Given the description of an element on the screen output the (x, y) to click on. 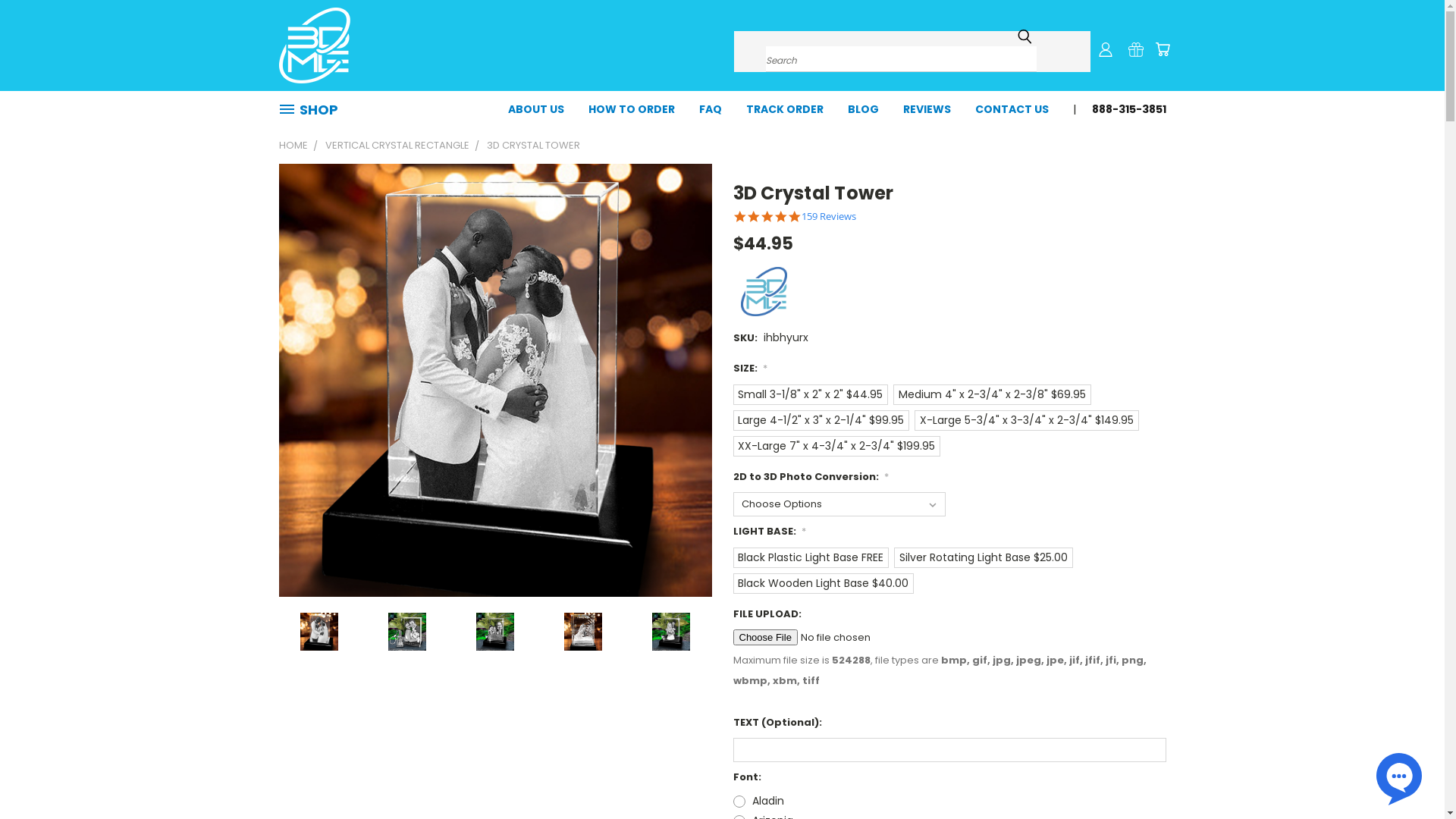
BLOG Element type: text (863, 108)
3D Crystal Tower Element type: hover (495, 630)
SHOP Element type: text (314, 109)
159 Reviews Element type: text (827, 216)
REVIEWS Element type: text (926, 108)
3D Crystal Tower Element type: hover (671, 630)
CONTACT US Element type: text (1011, 108)
FAQ Element type: text (710, 108)
3D Crystal Tower Element type: hover (407, 630)
HOW TO ORDER Element type: text (631, 108)
VERTICAL CRYSTAL RECTANGLE Element type: text (396, 145)
TRACK ORDER Element type: text (784, 108)
Submit Search Element type: hover (1024, 35)
ABOUT US Element type: text (535, 108)
Gift Certificates Element type: hover (1135, 48)
888-315-3851 Element type: text (1122, 108)
User Toolbox Element type: hover (1105, 48)
3D Crystal Me Element type: hover (314, 45)
HOME Element type: text (293, 145)
